Given the description of an element on the screen output the (x, y) to click on. 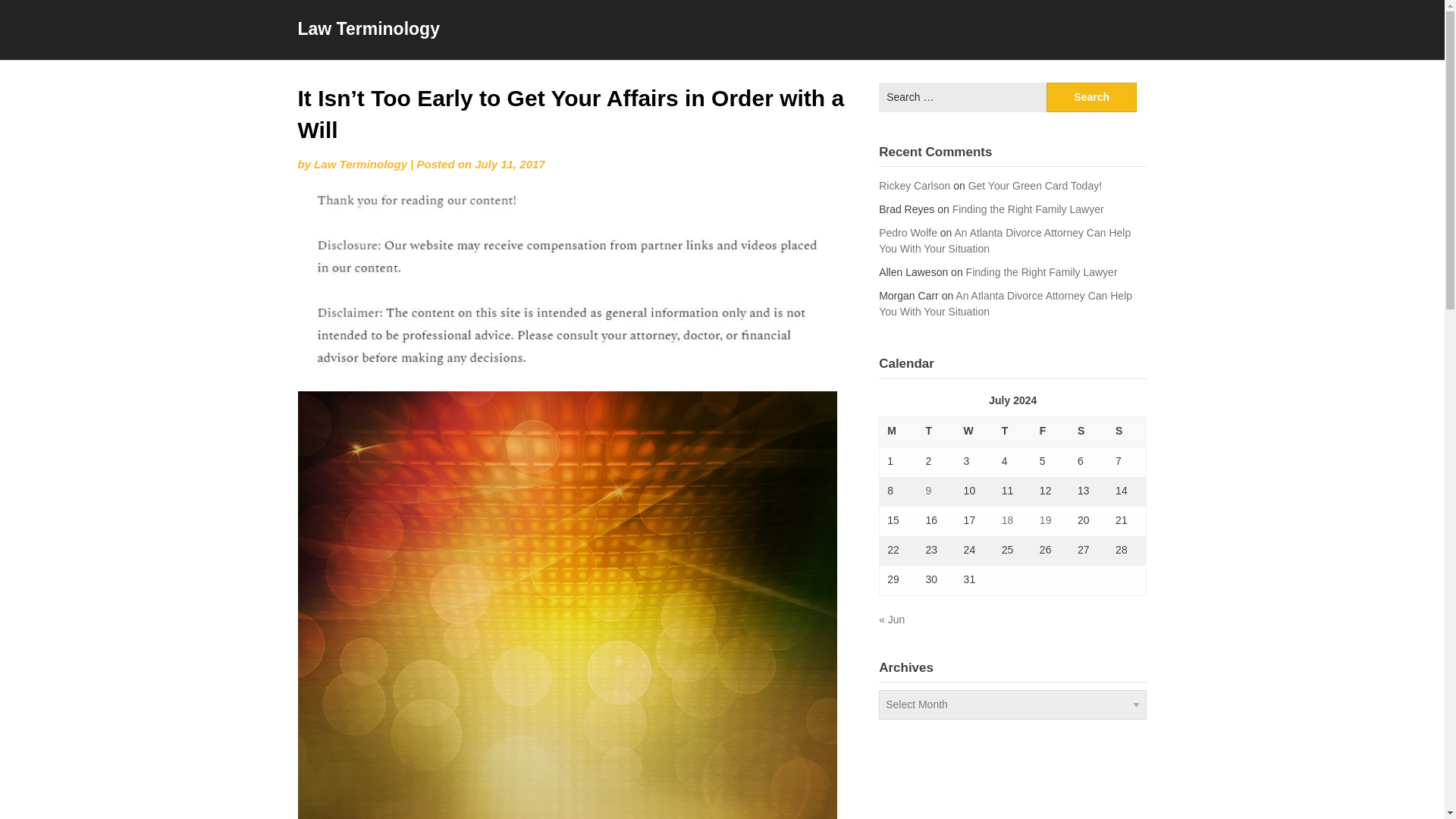
Get Your Green Card Today! (1035, 185)
Thursday (1013, 431)
Monday (898, 431)
Search (1091, 97)
Law Terminology (368, 28)
Wednesday (975, 431)
Saturday (1089, 431)
19 (1045, 520)
July 11, 2017 (509, 164)
Law Terminology (360, 164)
Rickey Carlson (914, 185)
Search (1091, 97)
Finding the Right Family Lawyer (1027, 209)
Pedro Wolfe (908, 232)
18 (1007, 520)
